Given the description of an element on the screen output the (x, y) to click on. 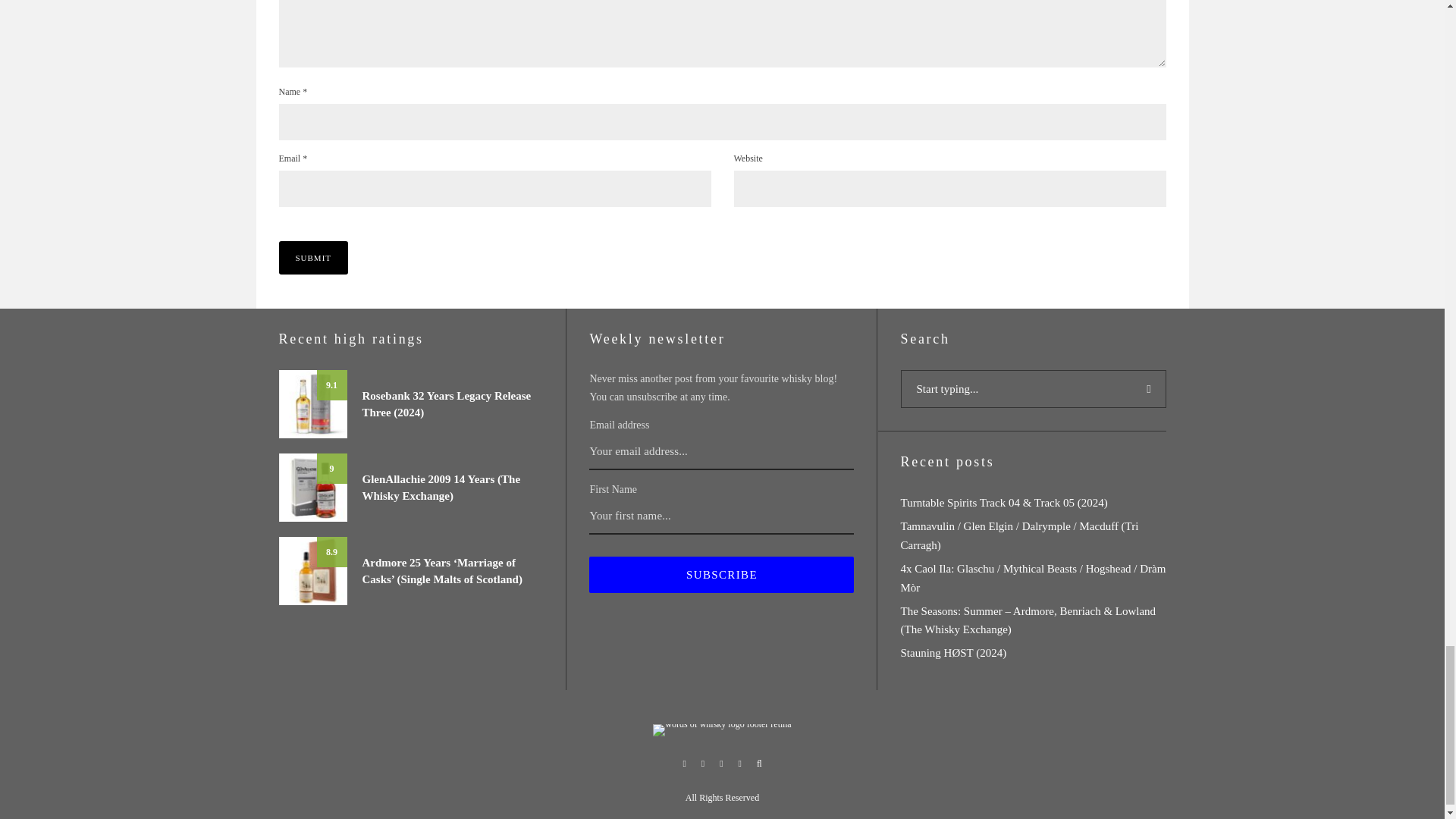
Submit (314, 257)
Subscribe (721, 574)
Submit (314, 257)
